Given the description of an element on the screen output the (x, y) to click on. 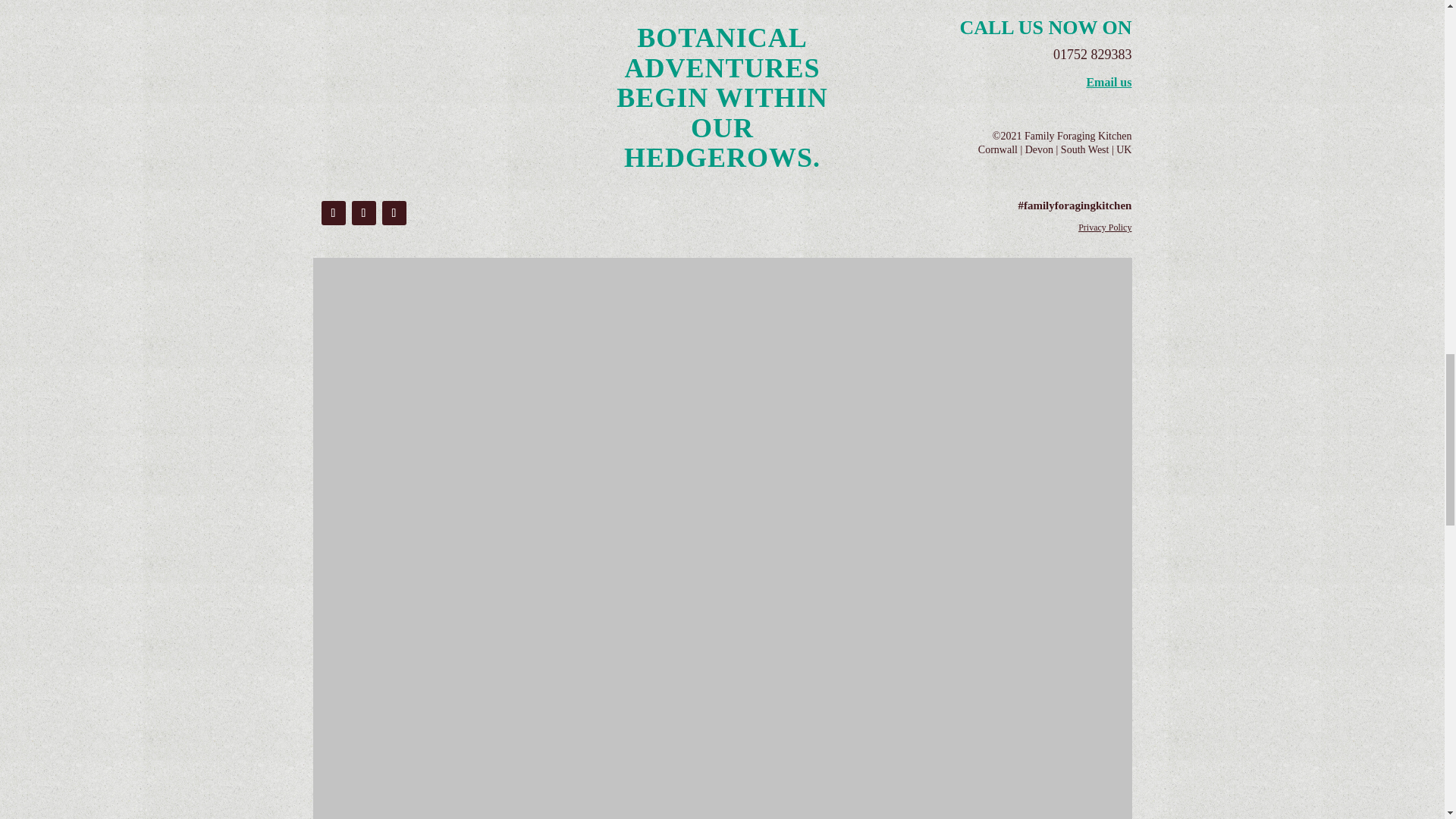
Follow on Facebook (333, 212)
Email us (1108, 82)
Privacy Policy (1104, 226)
Follow on Instagram (363, 212)
Follow on Youtube (393, 212)
